Given the description of an element on the screen output the (x, y) to click on. 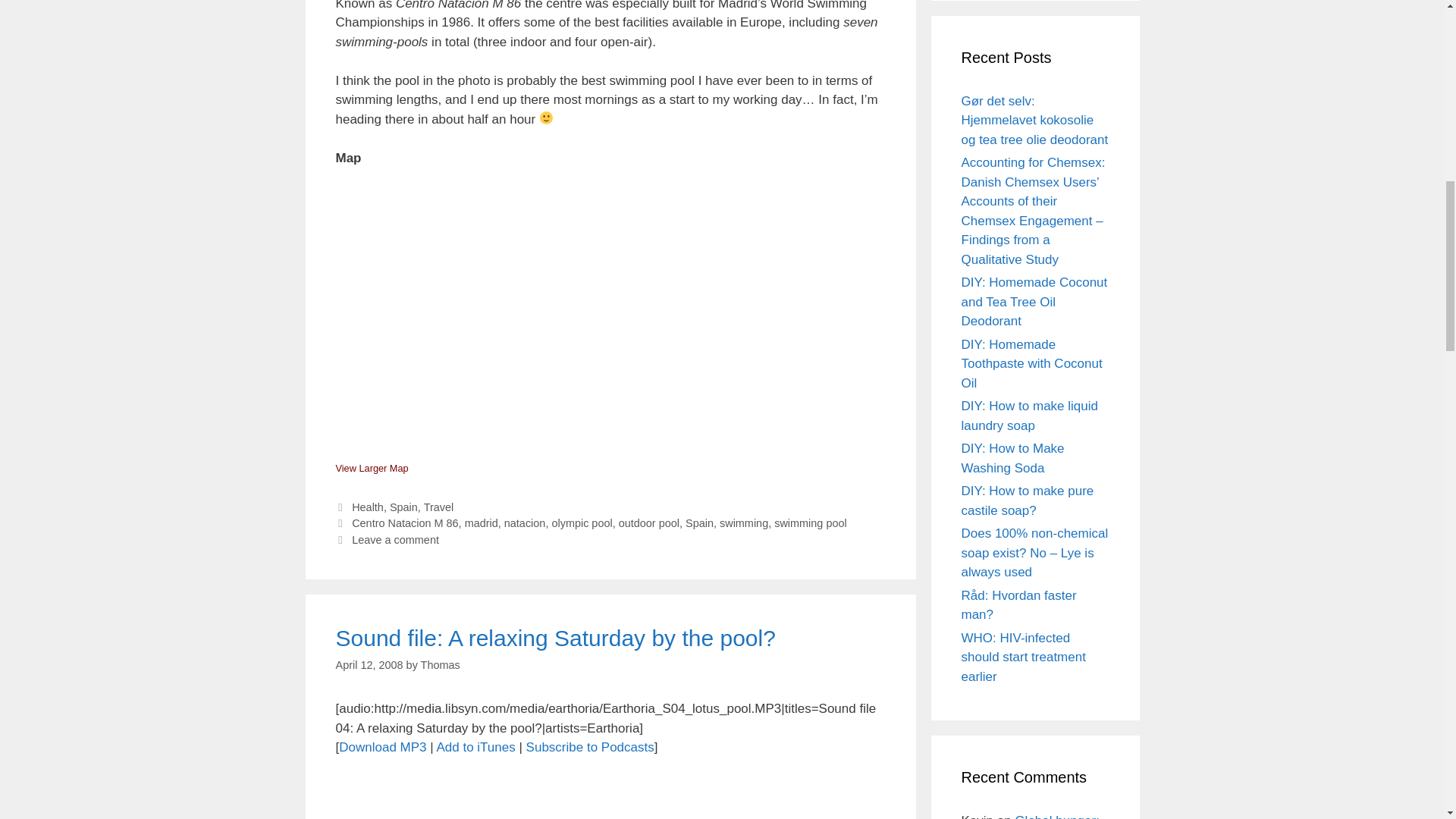
Download MP3 (382, 747)
View Larger Map (370, 468)
Spain (403, 507)
Add to iTunes (475, 747)
Centro Natacion M 86 (405, 522)
natacion (524, 522)
swimming pool (809, 522)
Subscribe to Podcasts (589, 747)
Spain (699, 522)
olympic pool (581, 522)
